Given the description of an element on the screen output the (x, y) to click on. 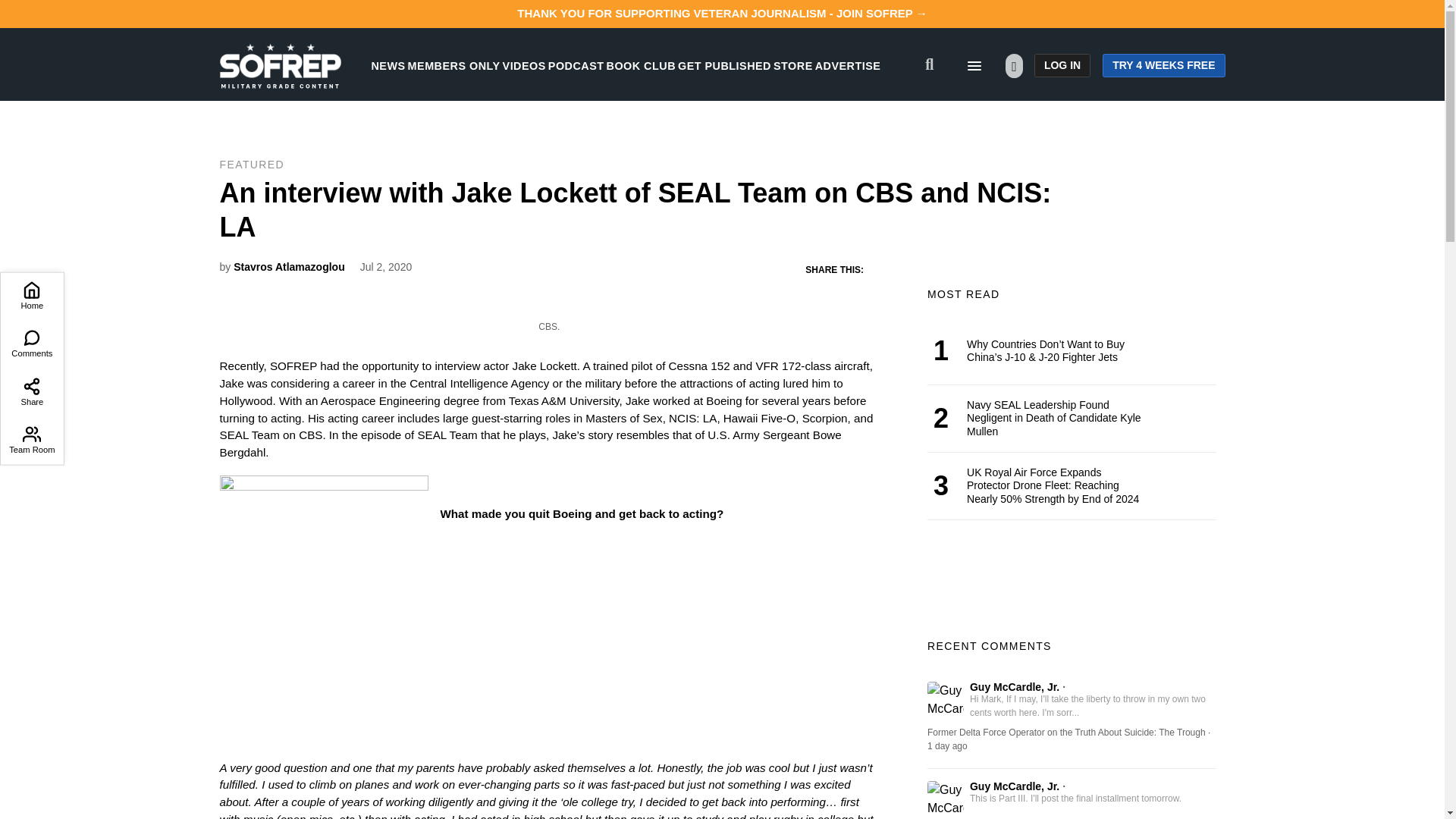
VIDEOS (524, 65)
PODCAST (576, 65)
GET PUBLISHED (724, 65)
STORE (792, 65)
LOG IN (1061, 65)
TRY 4 WEEKS FREE (1163, 65)
NEWS (388, 65)
ADVERTISE (847, 65)
BOOK CLUB (641, 65)
MEMBERS ONLY (453, 65)
